Given the description of an element on the screen output the (x, y) to click on. 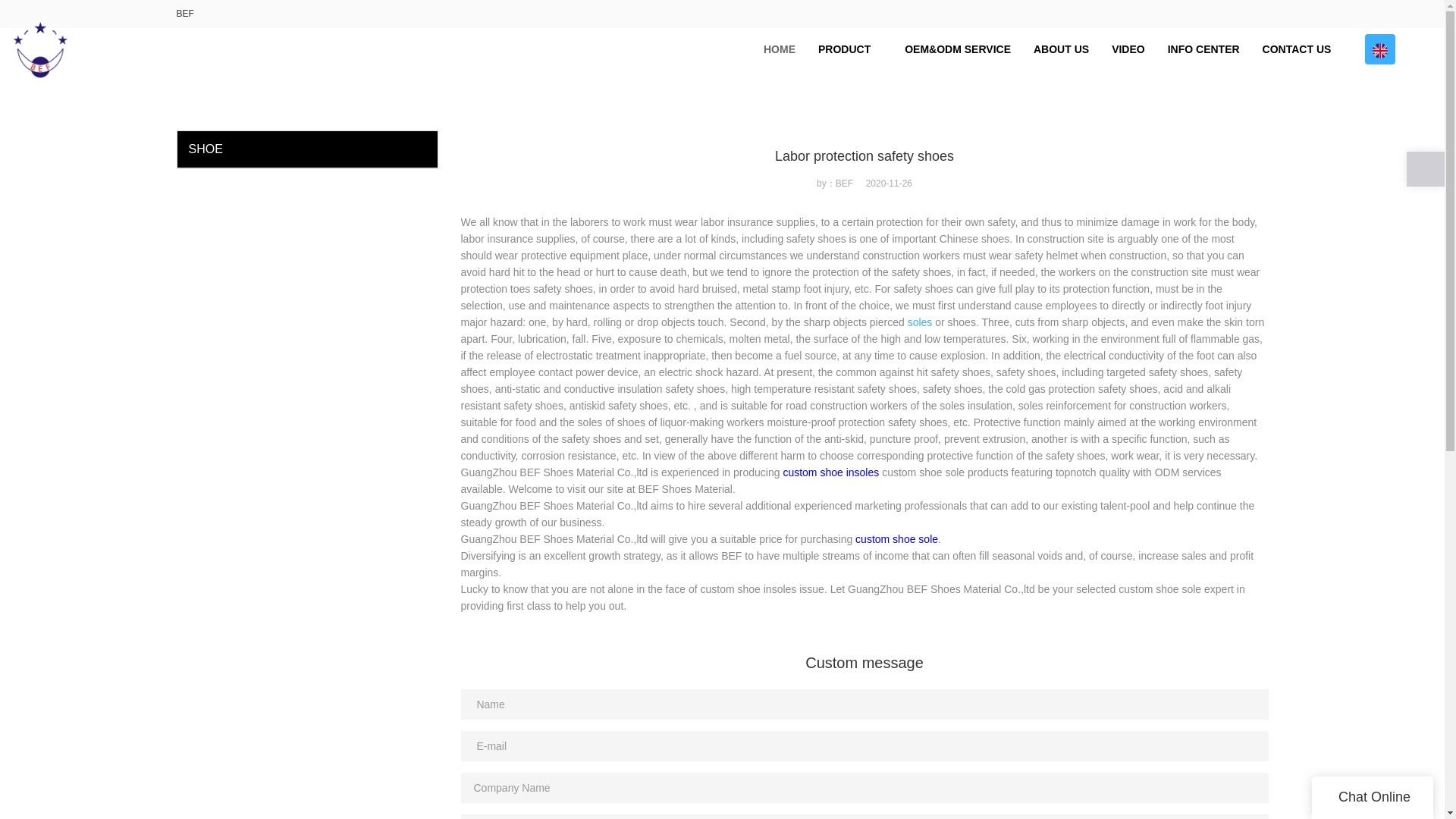
soles (920, 322)
CONTACT US (1296, 49)
ABOUT US (1061, 49)
custom shoe insoles (831, 472)
BEF (184, 13)
PRODUCT (849, 49)
custom shoe sole (896, 539)
INFO CENTER (1203, 49)
